Given the description of an element on the screen output the (x, y) to click on. 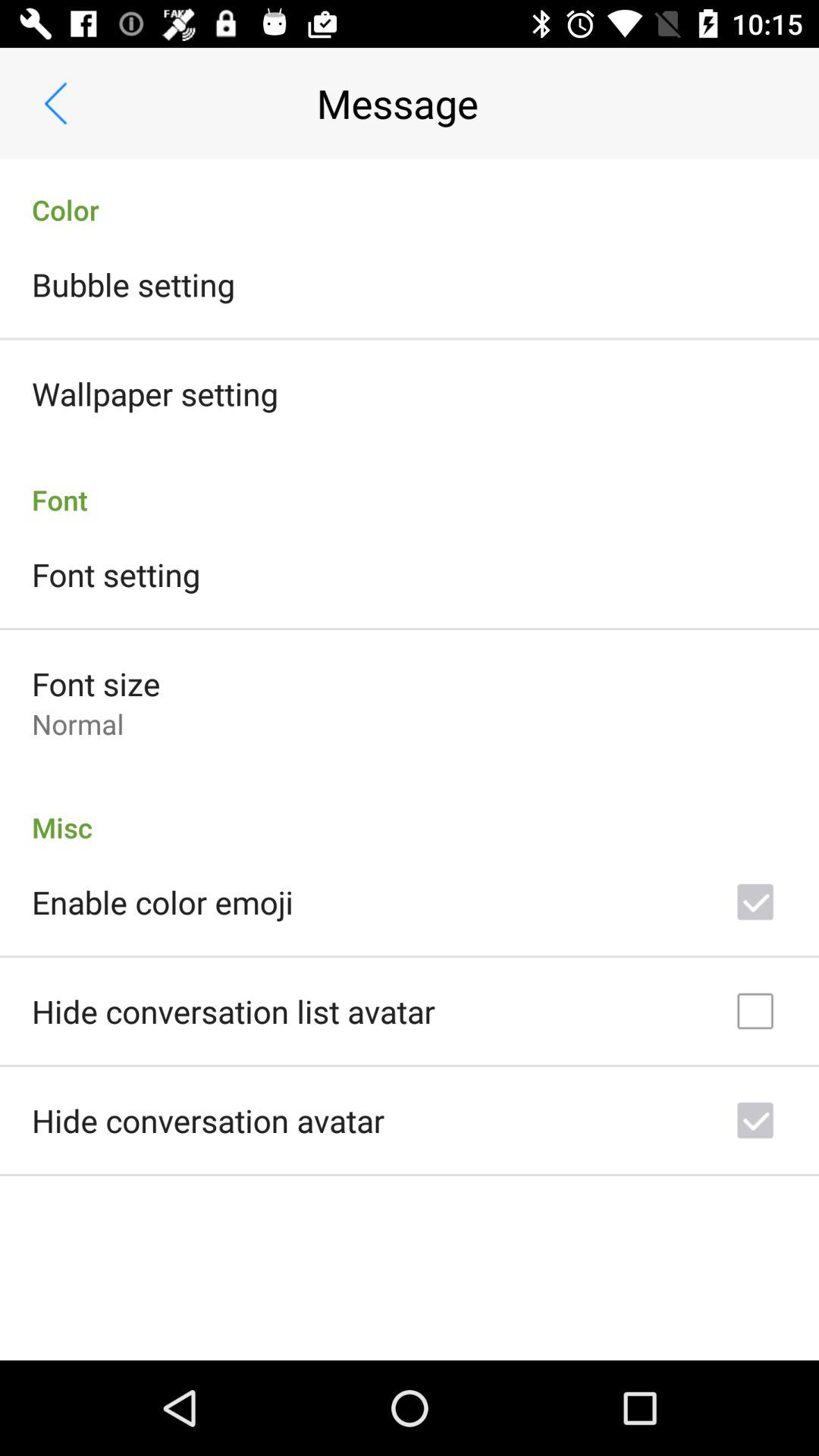
choose the wallpaper setting icon (154, 393)
